Given the description of an element on the screen output the (x, y) to click on. 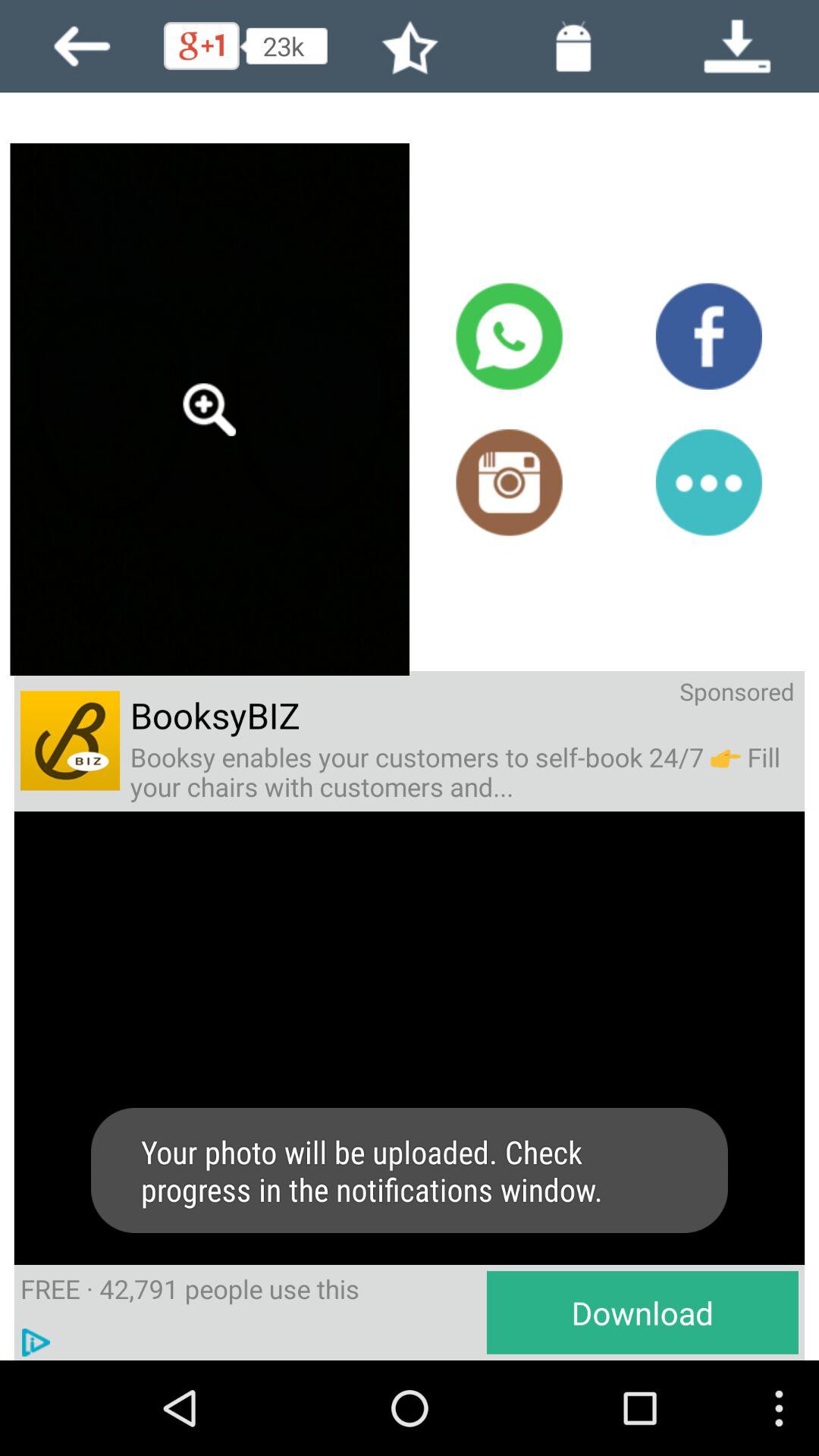
click on more icon (709, 482)
select the icon which is before the booksybiz (69, 740)
select the zoom in  icon which is above booksybiz on the page (209, 409)
click on the play image option to the left of the text download (35, 1342)
